Given the description of an element on the screen output the (x, y) to click on. 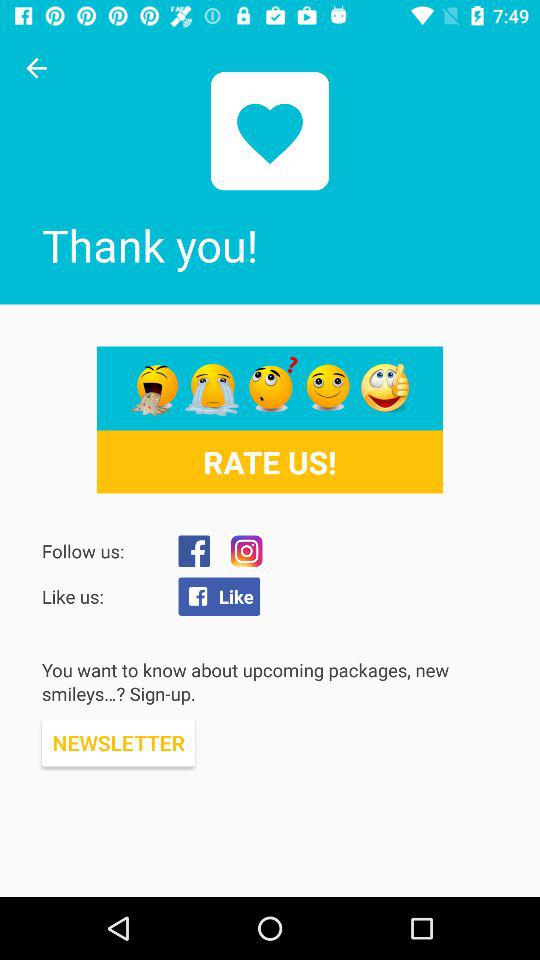
instagram (246, 551)
